Given the description of an element on the screen output the (x, y) to click on. 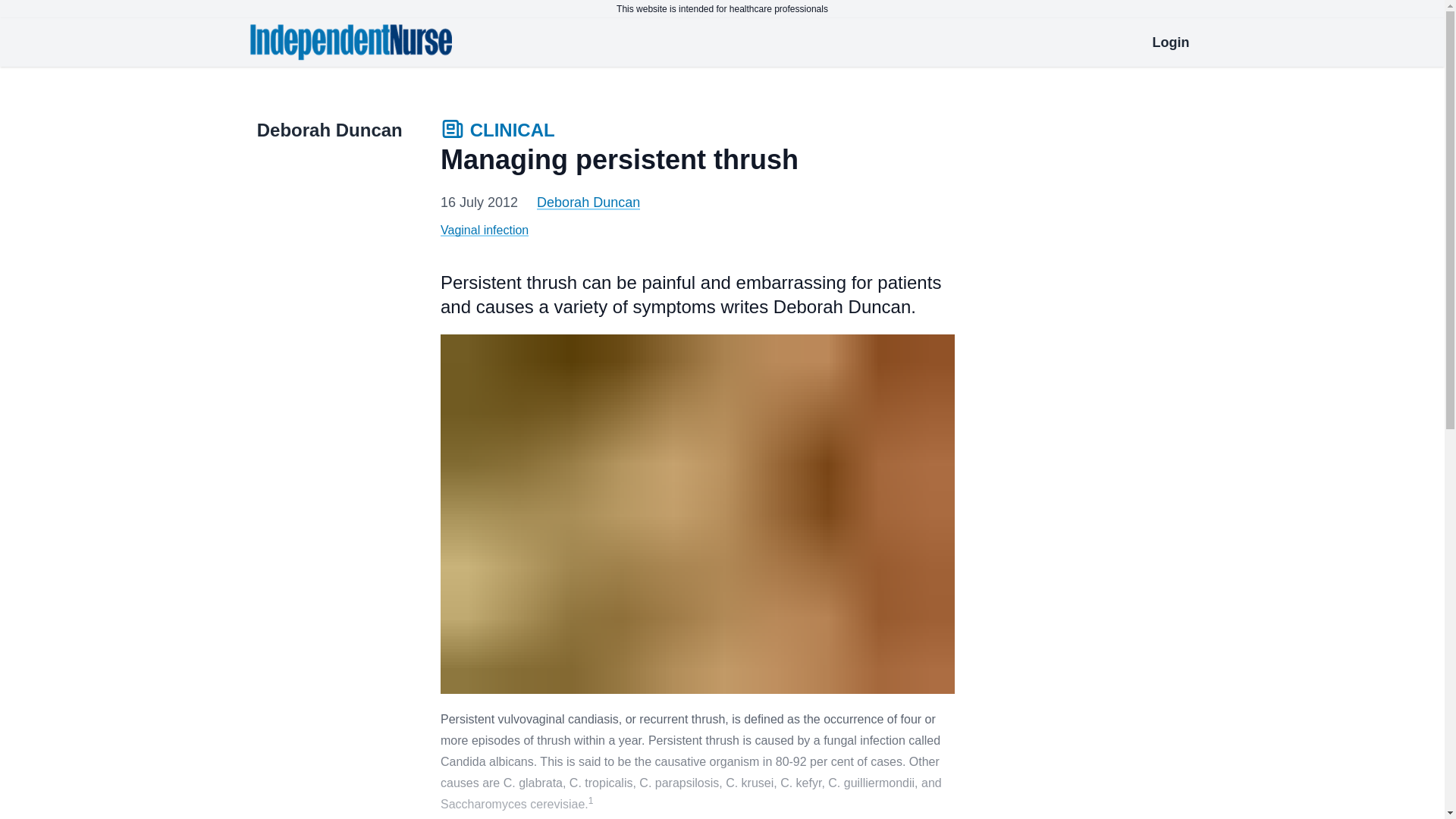
Deborah Duncan (588, 201)
Login (1171, 41)
CLINICAL (497, 132)
